Given the description of an element on the screen output the (x, y) to click on. 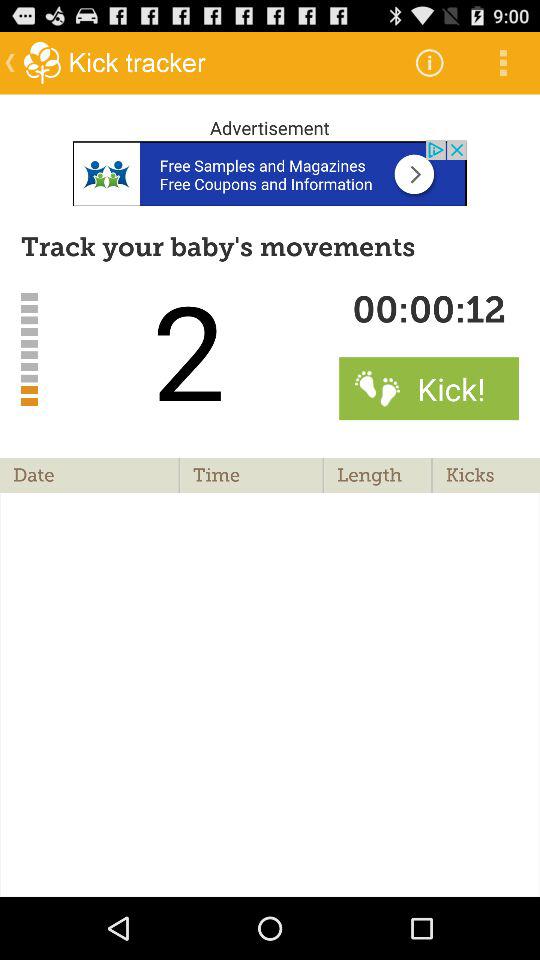
advertisement (269, 172)
